Given the description of an element on the screen output the (x, y) to click on. 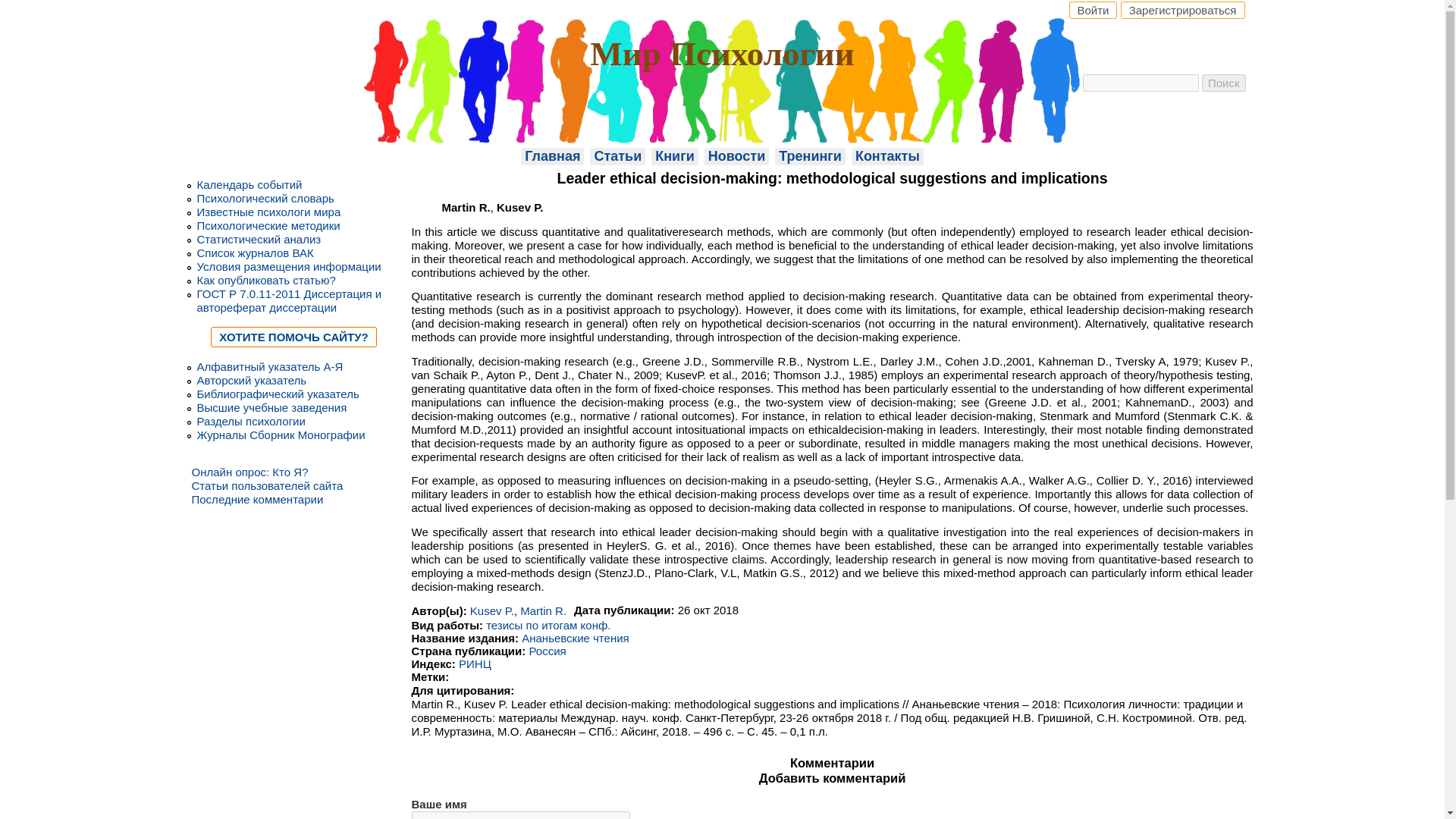
Kusev P. (491, 610)
Martin R. (542, 610)
